Given the description of an element on the screen output the (x, y) to click on. 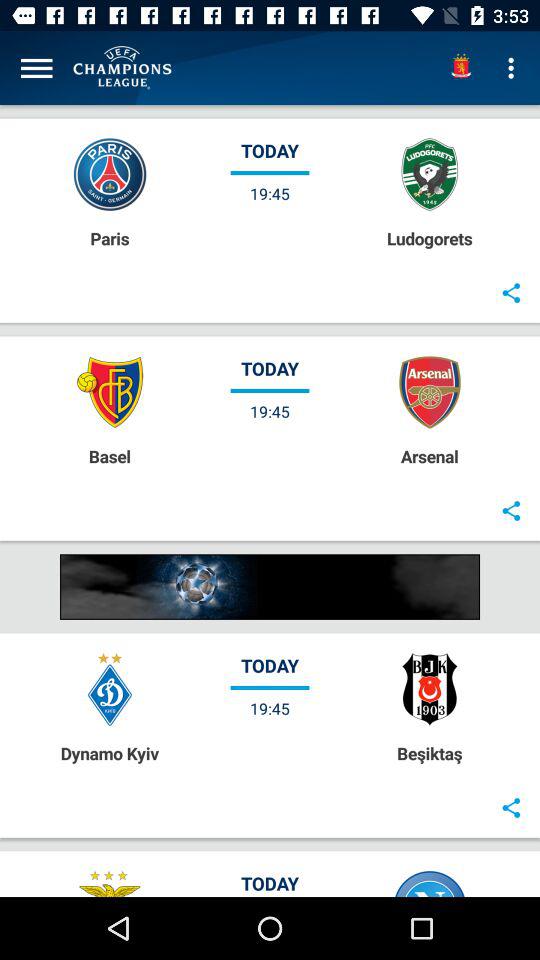
press the item above the paris item (36, 68)
